Given the description of an element on the screen output the (x, y) to click on. 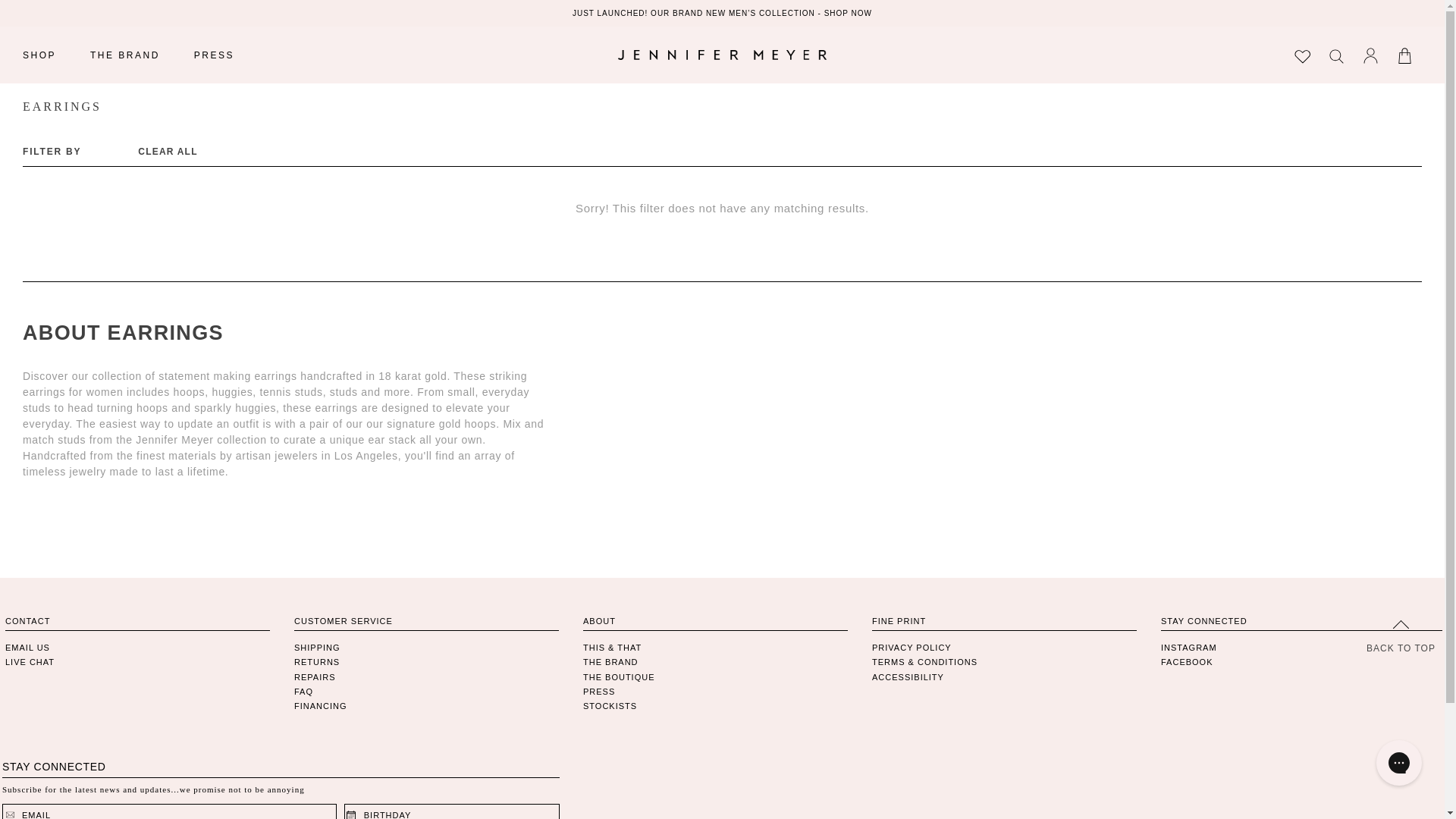
SHOP (39, 55)
Gorgias live chat messenger (1398, 762)
Jennifer Meyer (722, 54)
